Given the description of an element on the screen output the (x, y) to click on. 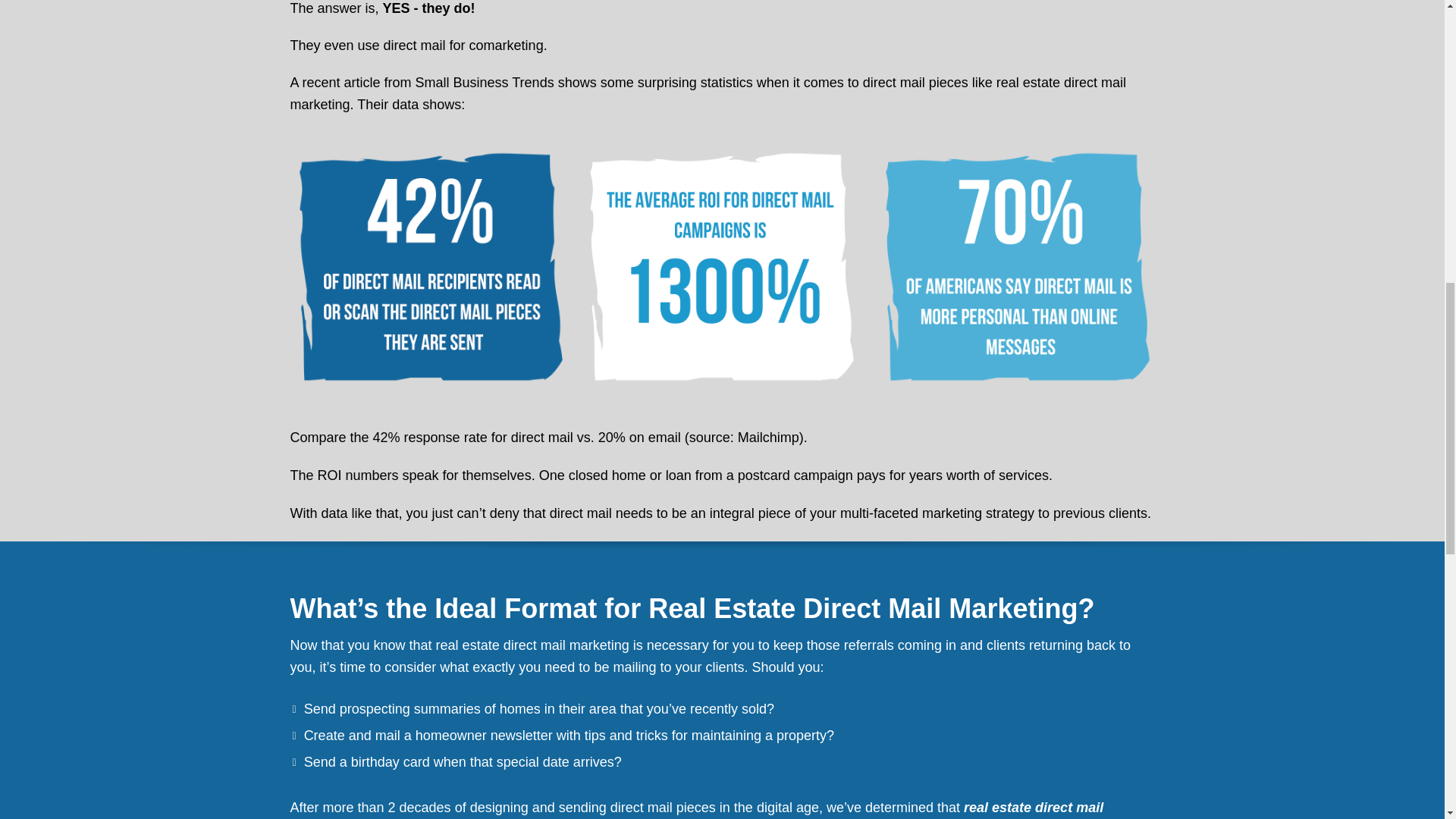
Small Business Trends (484, 82)
They even use direct mail for comarketing (416, 45)
read or scan (425, 266)
personal (1017, 266)
ROI percent (722, 266)
